Given the description of an element on the screen output the (x, y) to click on. 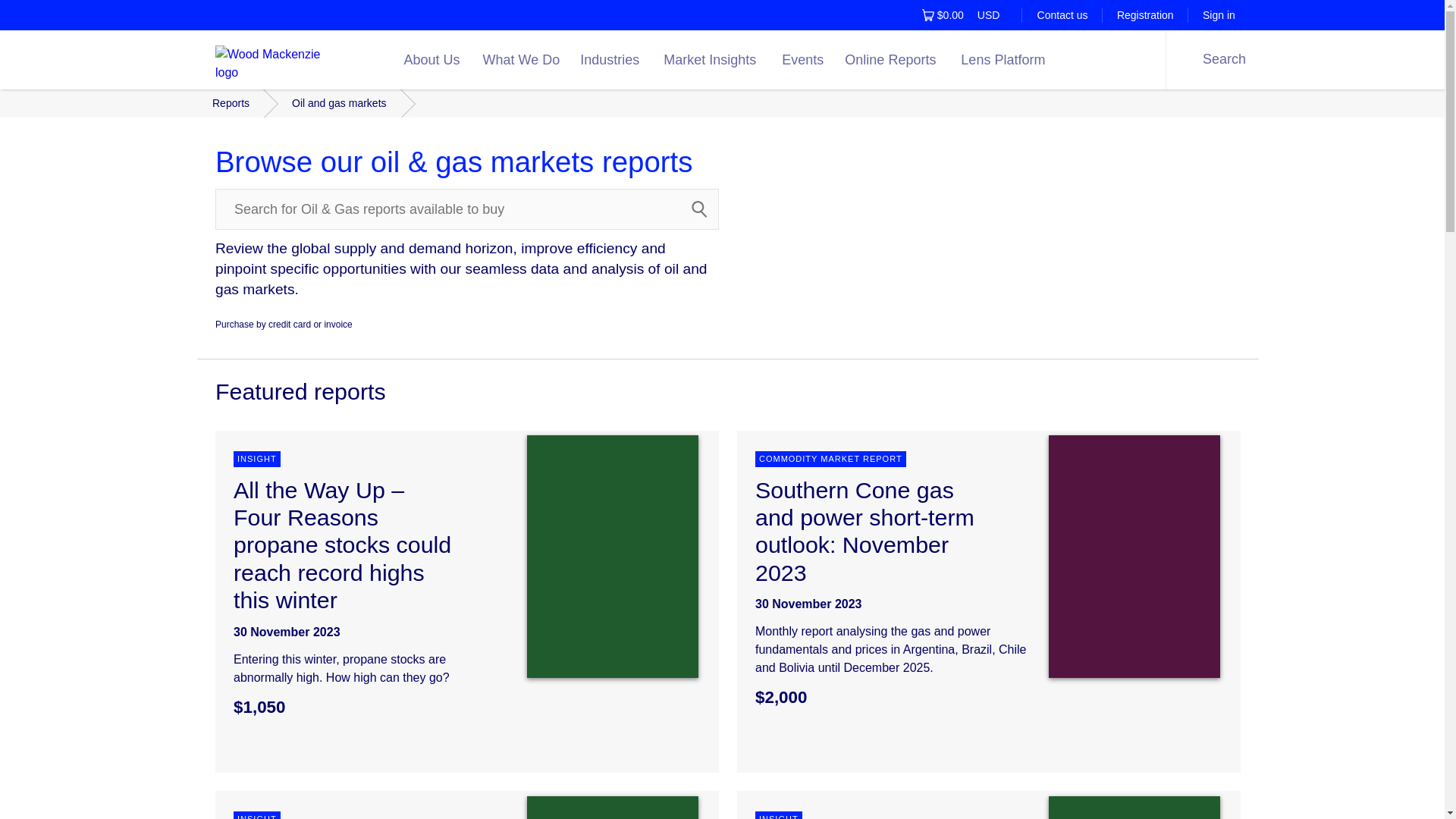
Search (698, 208)
Contact us (1218, 15)
USD (1062, 15)
About Us (994, 15)
Registration (434, 59)
